Given the description of an element on the screen output the (x, y) to click on. 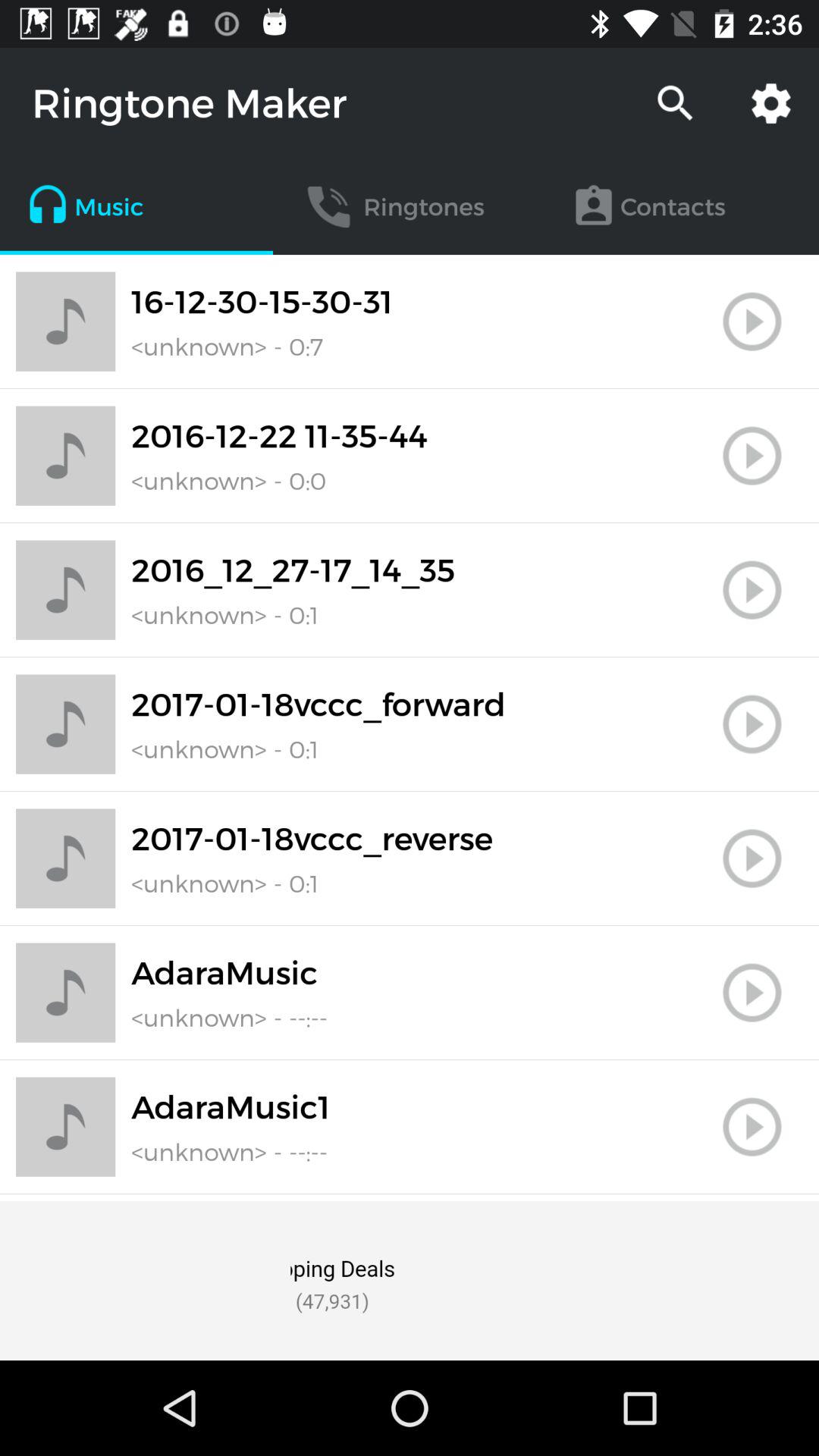
it is play key (752, 321)
